Given the description of an element on the screen output the (x, y) to click on. 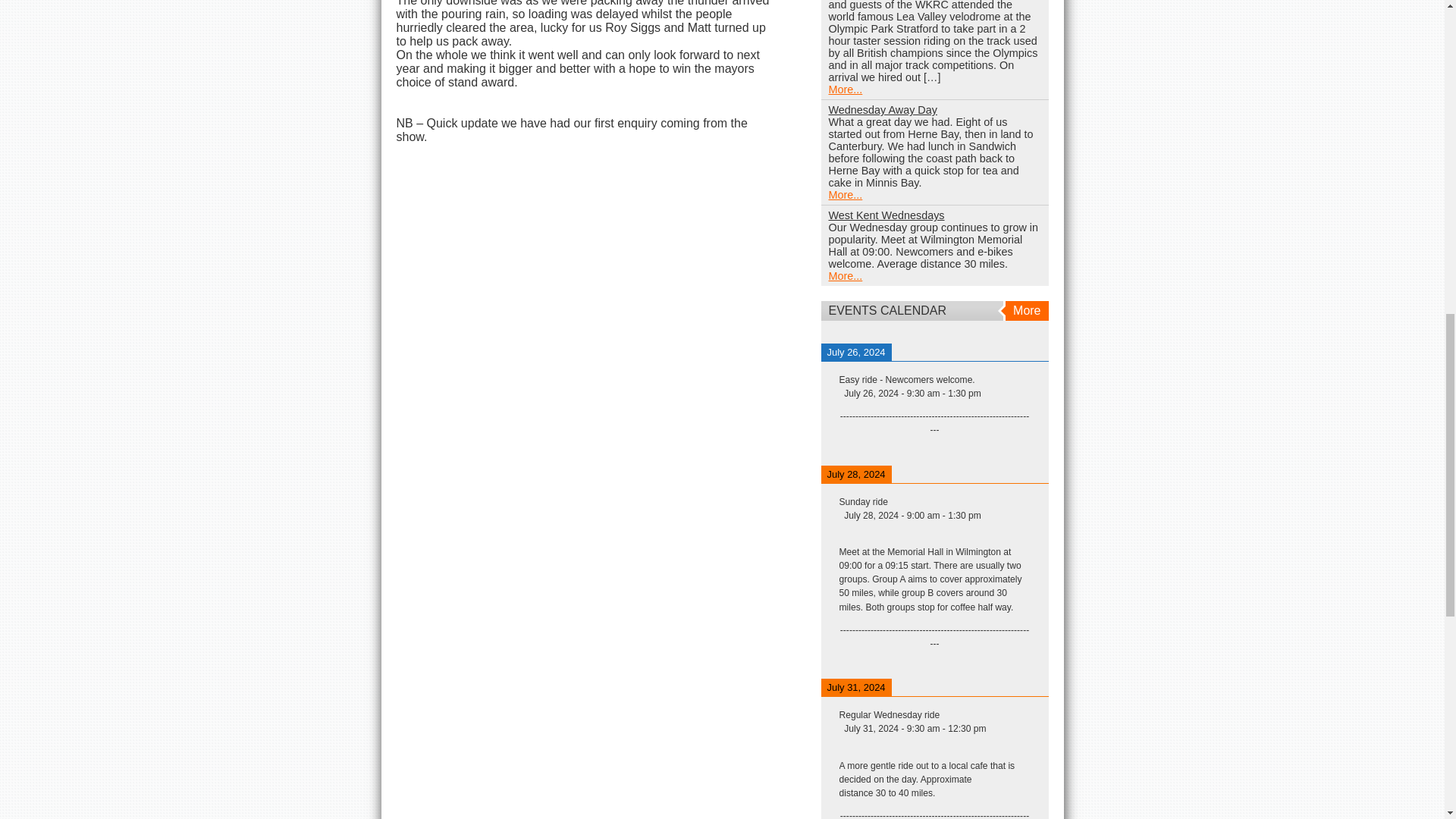
West Kent Wednesdays (885, 215)
More... (844, 275)
More... (844, 194)
Wednesday Away Day (882, 110)
More (1025, 311)
More... (844, 89)
